Given the description of an element on the screen output the (x, y) to click on. 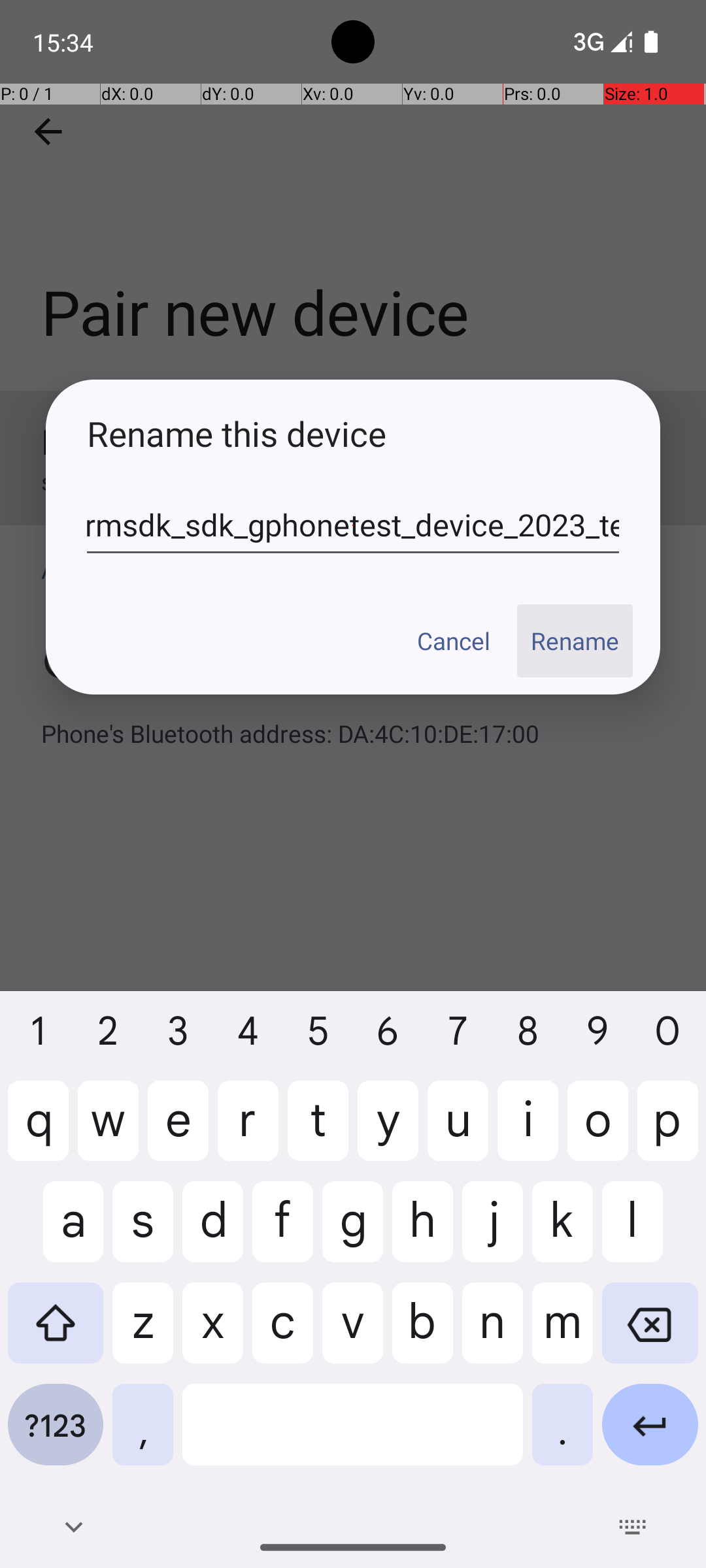
sdk_gphone64_armsdk_sdk_gphonetest_device_2023_test_device_2023test_device_202364 Element type: android.widget.EditText (352, 525)
